Given the description of an element on the screen output the (x, y) to click on. 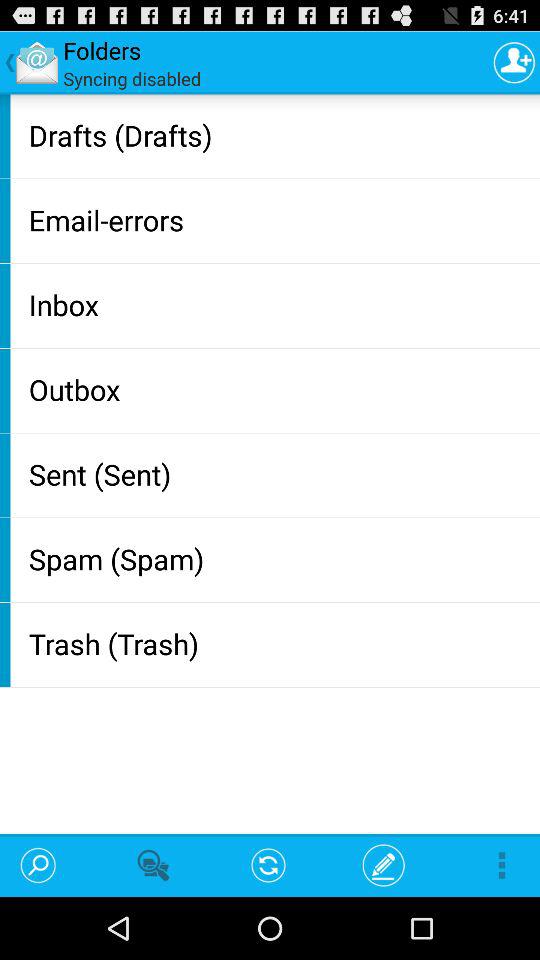
select the email-errors item (280, 219)
